Given the description of an element on the screen output the (x, y) to click on. 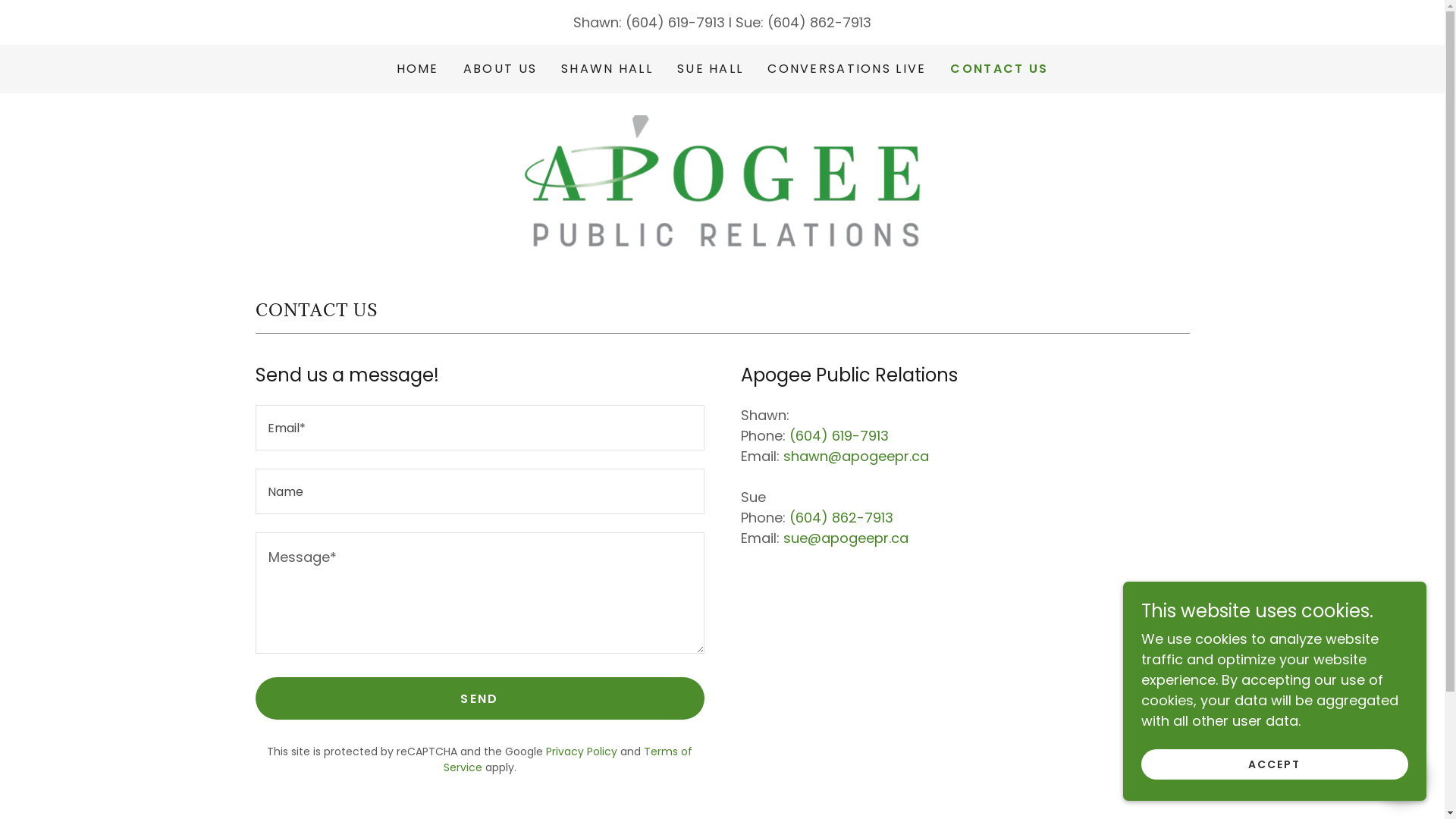
ABOUT US Element type: text (499, 68)
ACCEPT Element type: text (1274, 764)
sue@apogeepr.ca Element type: text (844, 537)
(604) 619-7913 Element type: text (674, 21)
(604) 862-7913 Element type: text (840, 517)
Terms of Service Element type: text (567, 759)
CONVERSATIONS LIVE Element type: text (846, 68)
SHAWN HALL Element type: text (606, 68)
Apogee Public Relations Element type: hover (722, 178)
CONTACT US Element type: text (999, 68)
(604) 862-7913 Element type: text (819, 21)
HOME Element type: text (417, 68)
SEND Element type: text (478, 698)
shawn@apogeepr.ca Element type: text (855, 455)
SUE HALL Element type: text (709, 68)
(604) 619-7913 Element type: text (838, 435)
Privacy Policy Element type: text (581, 751)
